Given the description of an element on the screen output the (x, y) to click on. 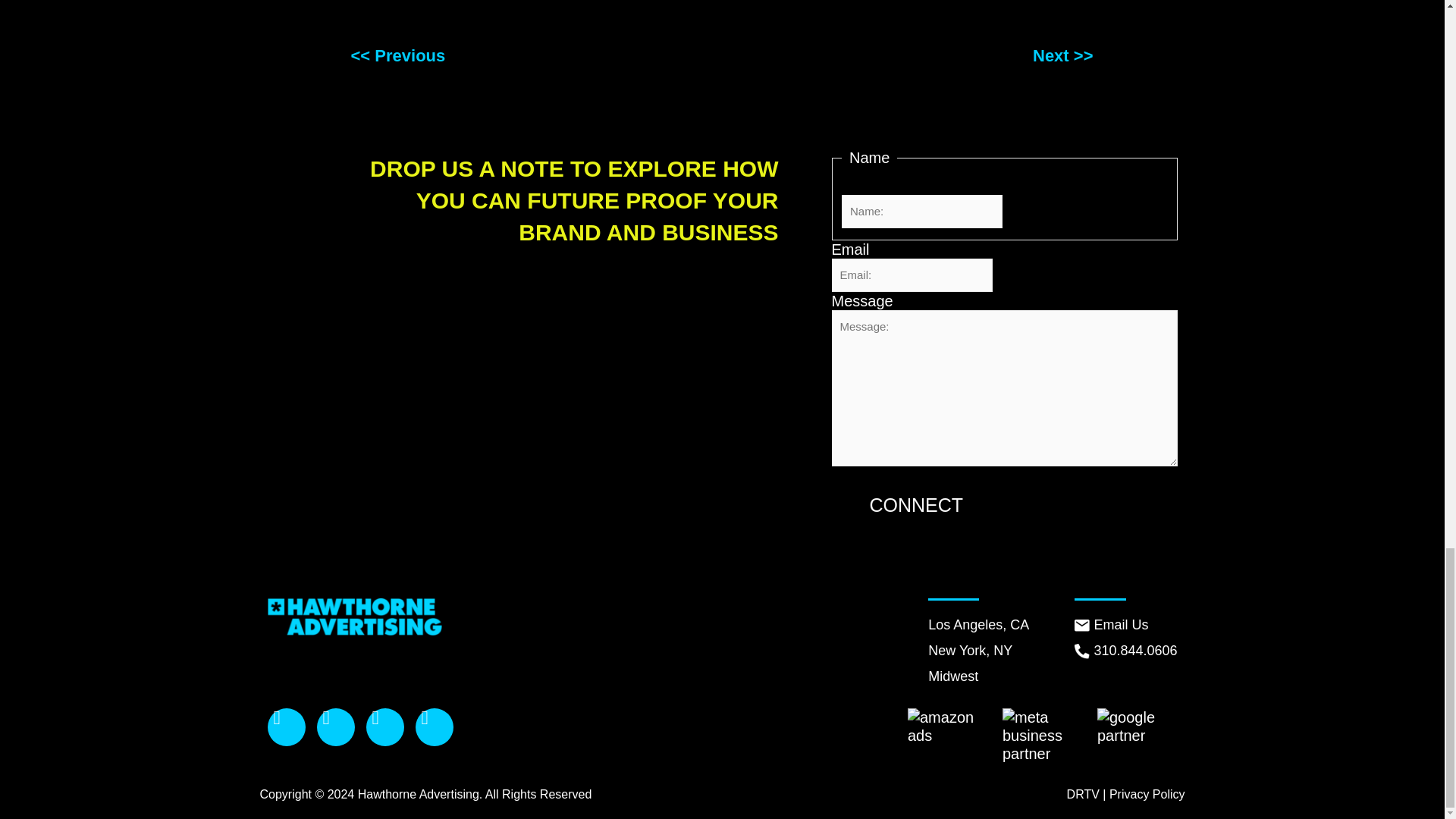
Twitter (384, 727)
Facebook-f (285, 727)
CONNECT (916, 505)
Linkedin-in (433, 727)
310.844.0606 (1125, 650)
Instagram (336, 727)
CONNECT (916, 505)
Email Us (1125, 624)
DRTV (1083, 793)
Privacy Policy (1147, 793)
